Given the description of an element on the screen output the (x, y) to click on. 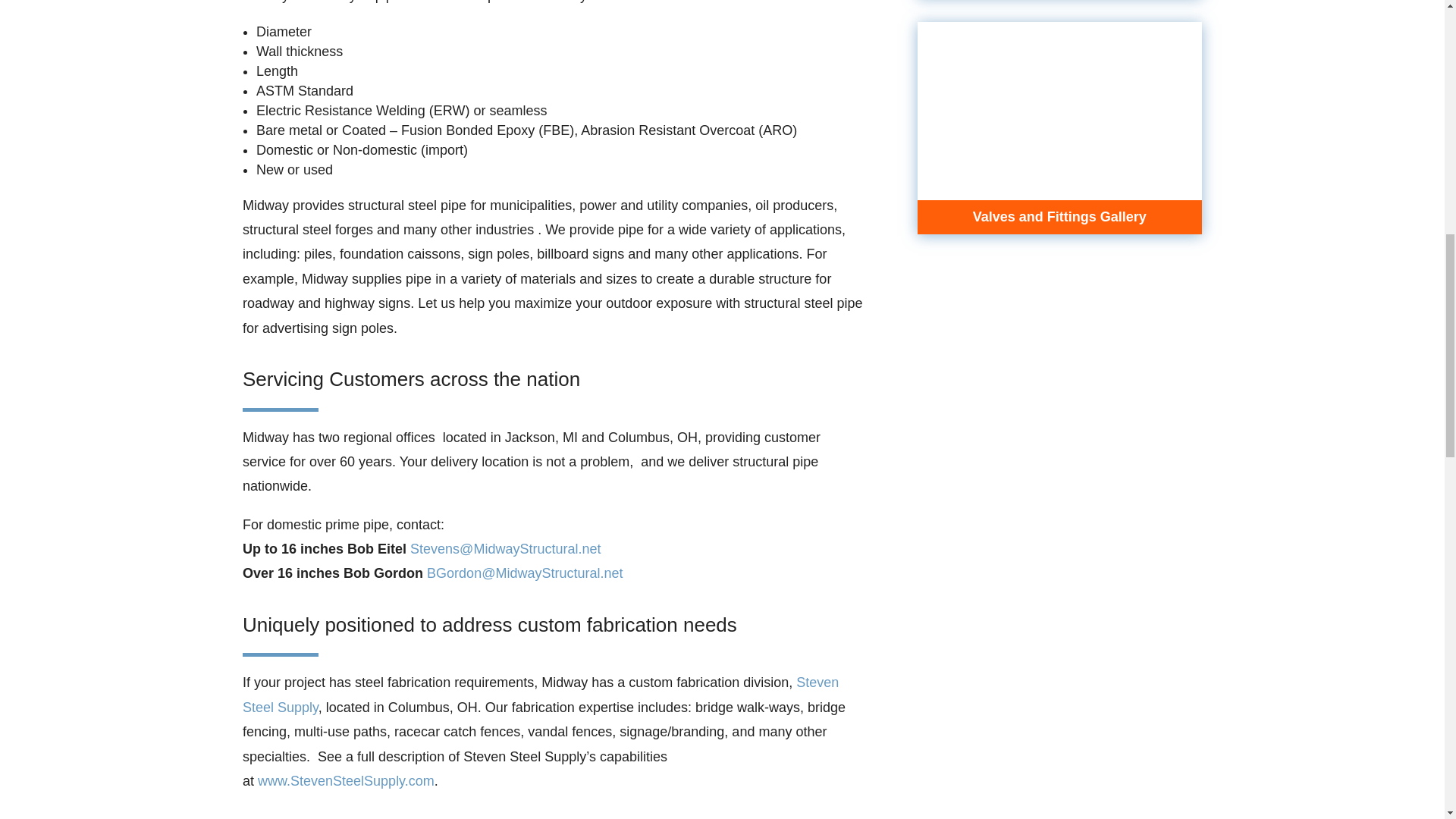
Valves and Fittings Gallery (1059, 216)
www.StevenSteelSupply.com (345, 780)
Steven Steel Supply (540, 694)
